Given the description of an element on the screen output the (x, y) to click on. 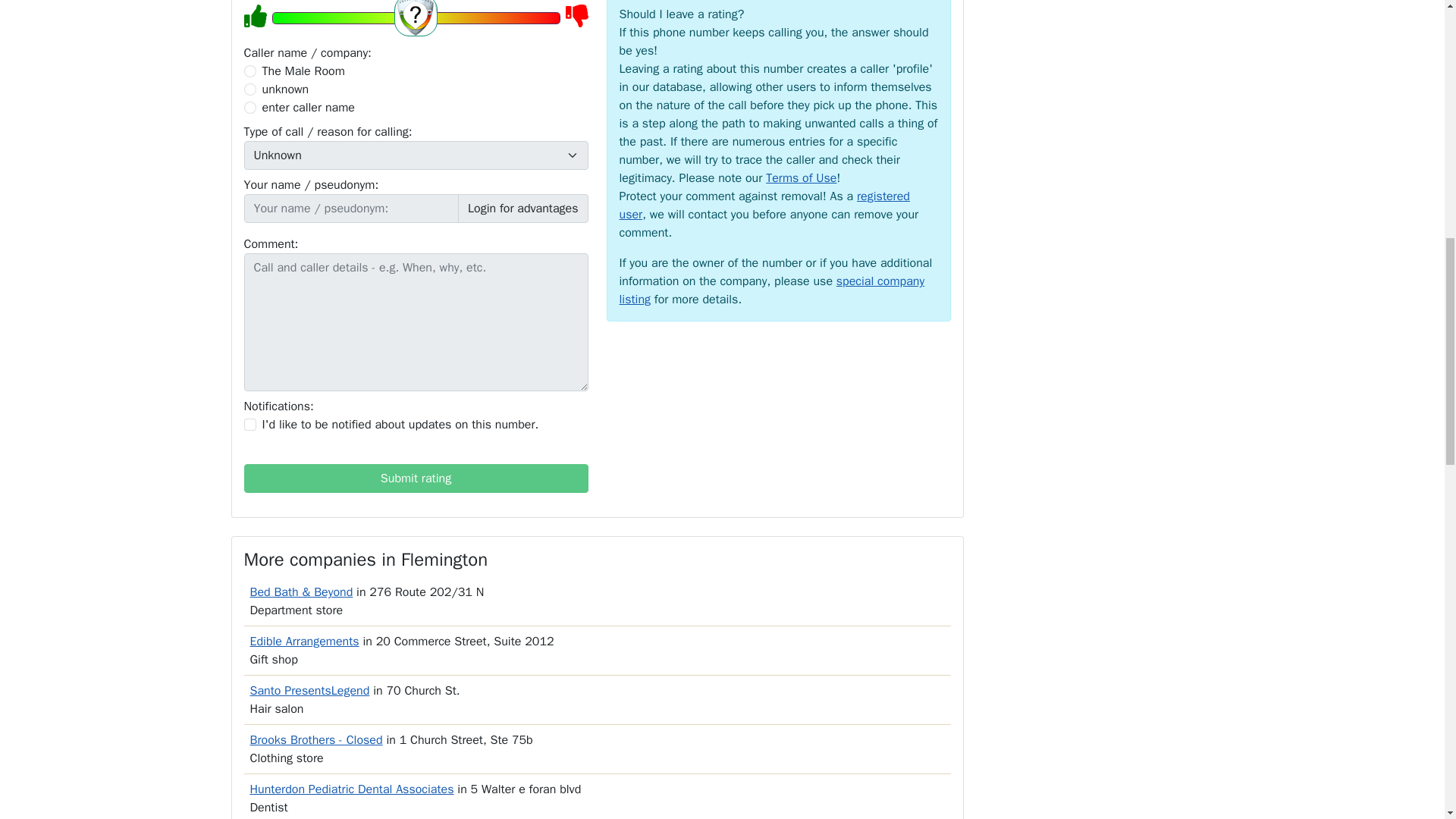
3 (250, 107)
special company listing (771, 290)
Login for advantages (523, 208)
2 (250, 89)
Hunterdon Pediatric Dental Associates (352, 789)
Brooks Brothers - Closed (316, 739)
Santo PresentsLegend (309, 690)
1 (250, 424)
registered user (763, 205)
Submit rating (416, 478)
Terms of Use (800, 177)
Edible Arrangements (304, 641)
0 (250, 70)
5 (414, 18)
